Given the description of an element on the screen output the (x, y) to click on. 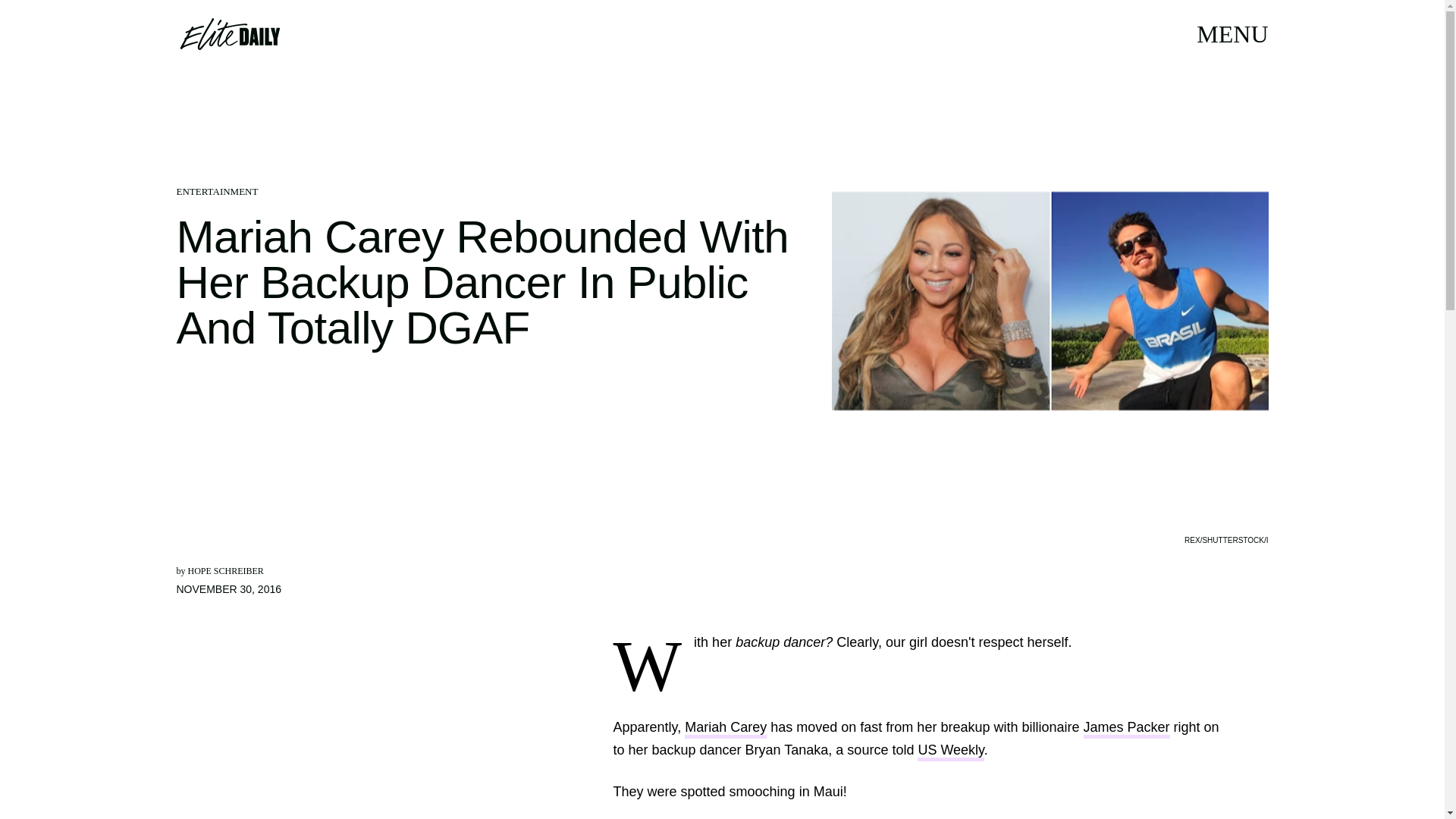
James Packer (1126, 728)
Mariah Carey (725, 728)
US Weekly (950, 751)
Elite Daily (229, 33)
